Given the description of an element on the screen output the (x, y) to click on. 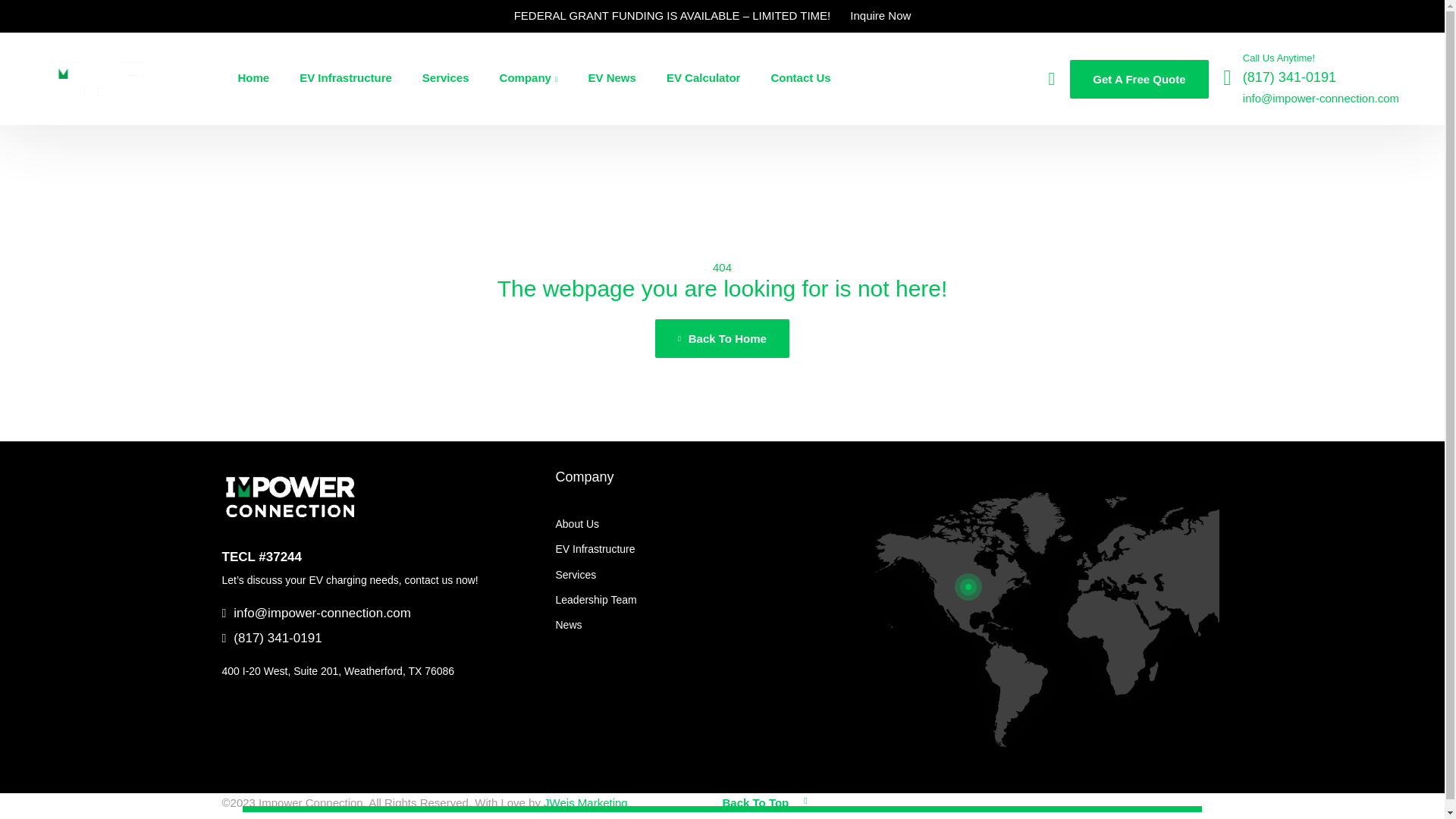
Company (583, 476)
Back To Home (722, 338)
Services (705, 574)
Impower (100, 78)
News (705, 624)
JWeis Marketing (585, 802)
Inquire Now (880, 15)
EV Infrastructure (705, 548)
EV Calculator (703, 77)
Leadership Team (705, 600)
About Us (705, 524)
EV Infrastructure (345, 77)
Get A Free Quote (1139, 77)
Back To Top (764, 802)
